Given the description of an element on the screen output the (x, y) to click on. 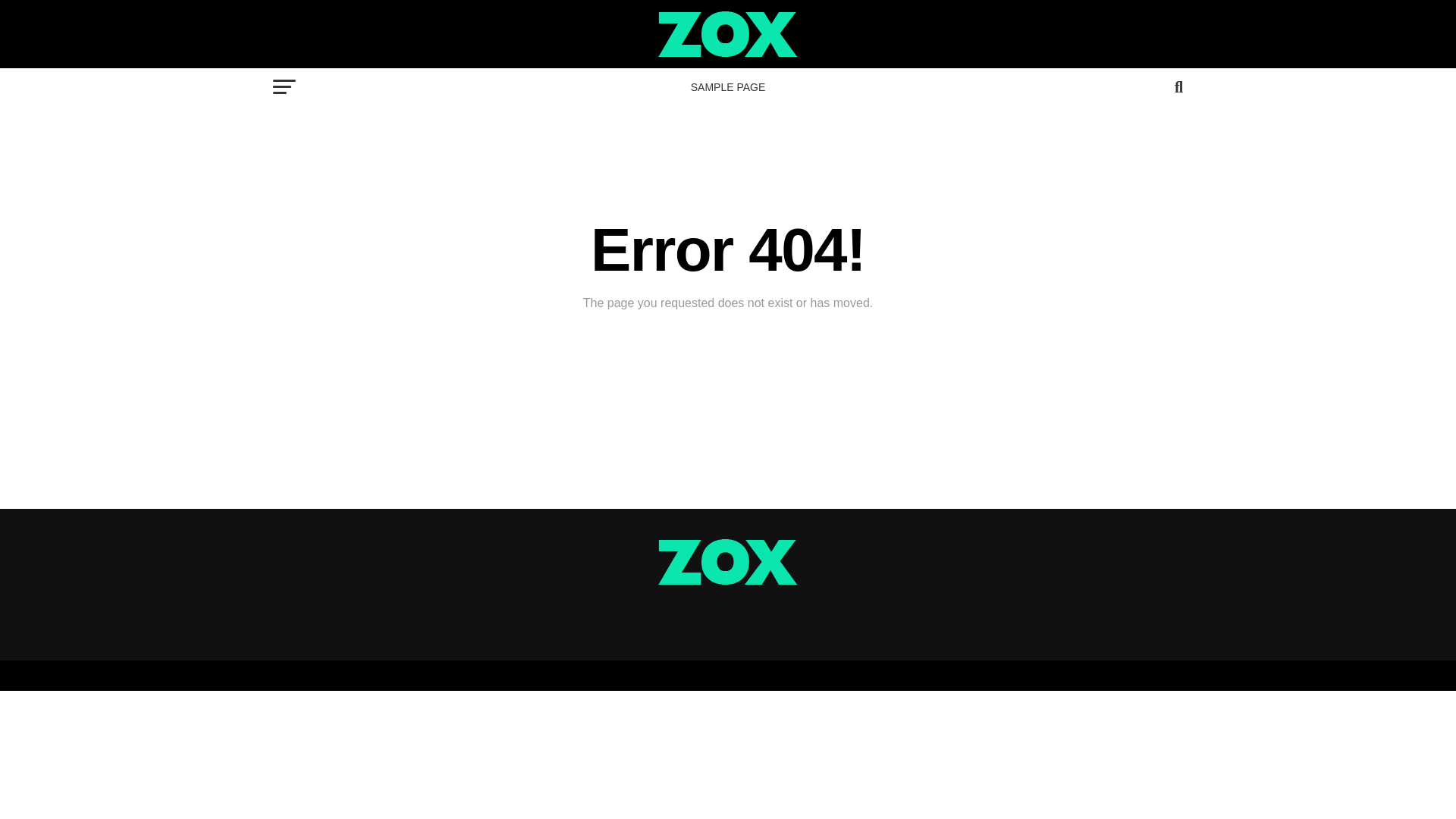
SAMPLE PAGE (727, 86)
